Given the description of an element on the screen output the (x, y) to click on. 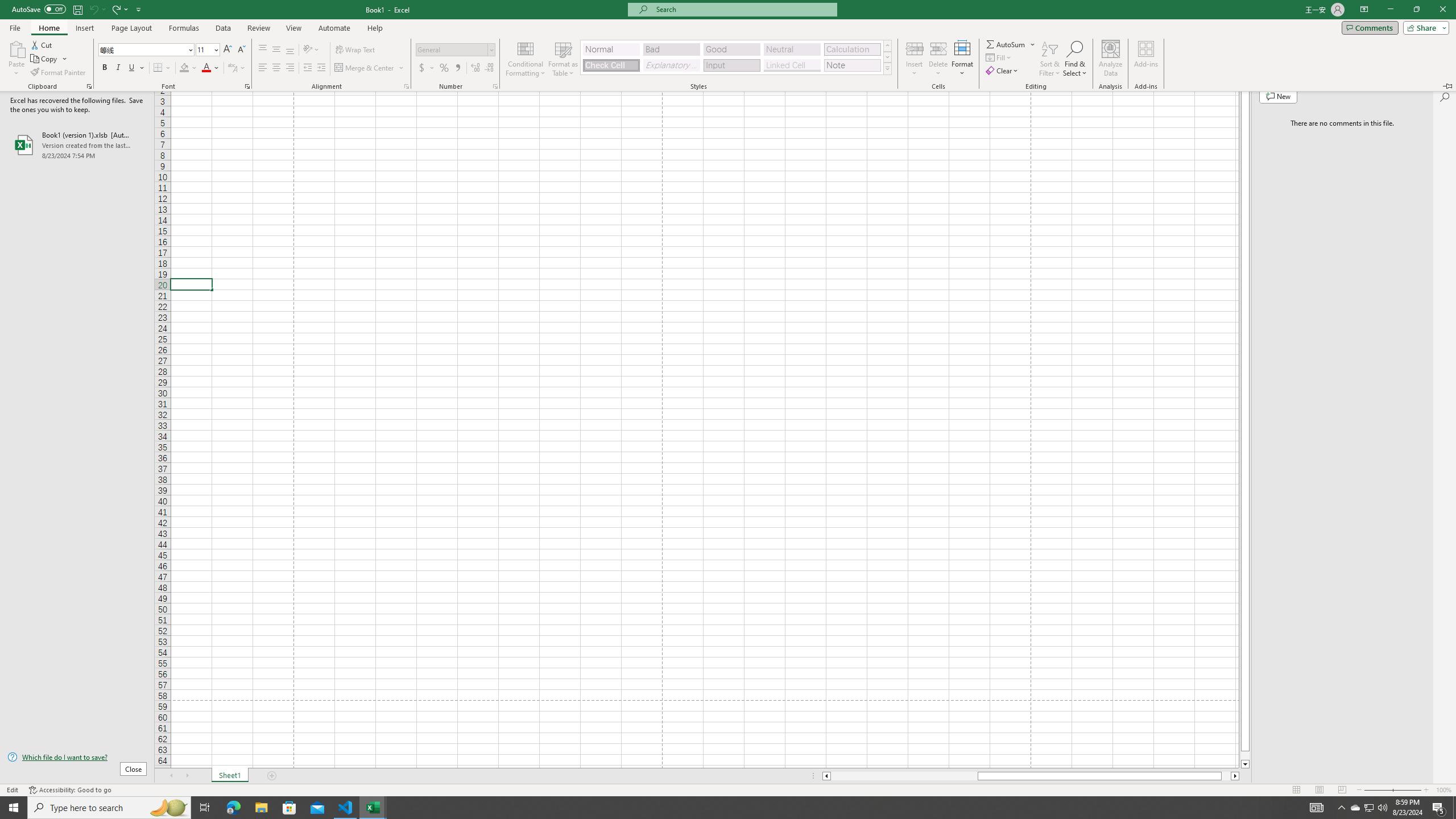
Share (1423, 27)
Q2790: 100% (1382, 807)
Page left (903, 775)
Show desktop (1454, 807)
System (6, 6)
Comments (1369, 27)
Task View (204, 807)
Page down (1245, 755)
Microsoft Edge (233, 807)
Help (374, 28)
Page right (1225, 775)
Search highlights icon opens search home window (167, 807)
Start (13, 807)
Type here to search (108, 807)
Excel - 2 running windows (373, 807)
